Given the description of an element on the screen output the (x, y) to click on. 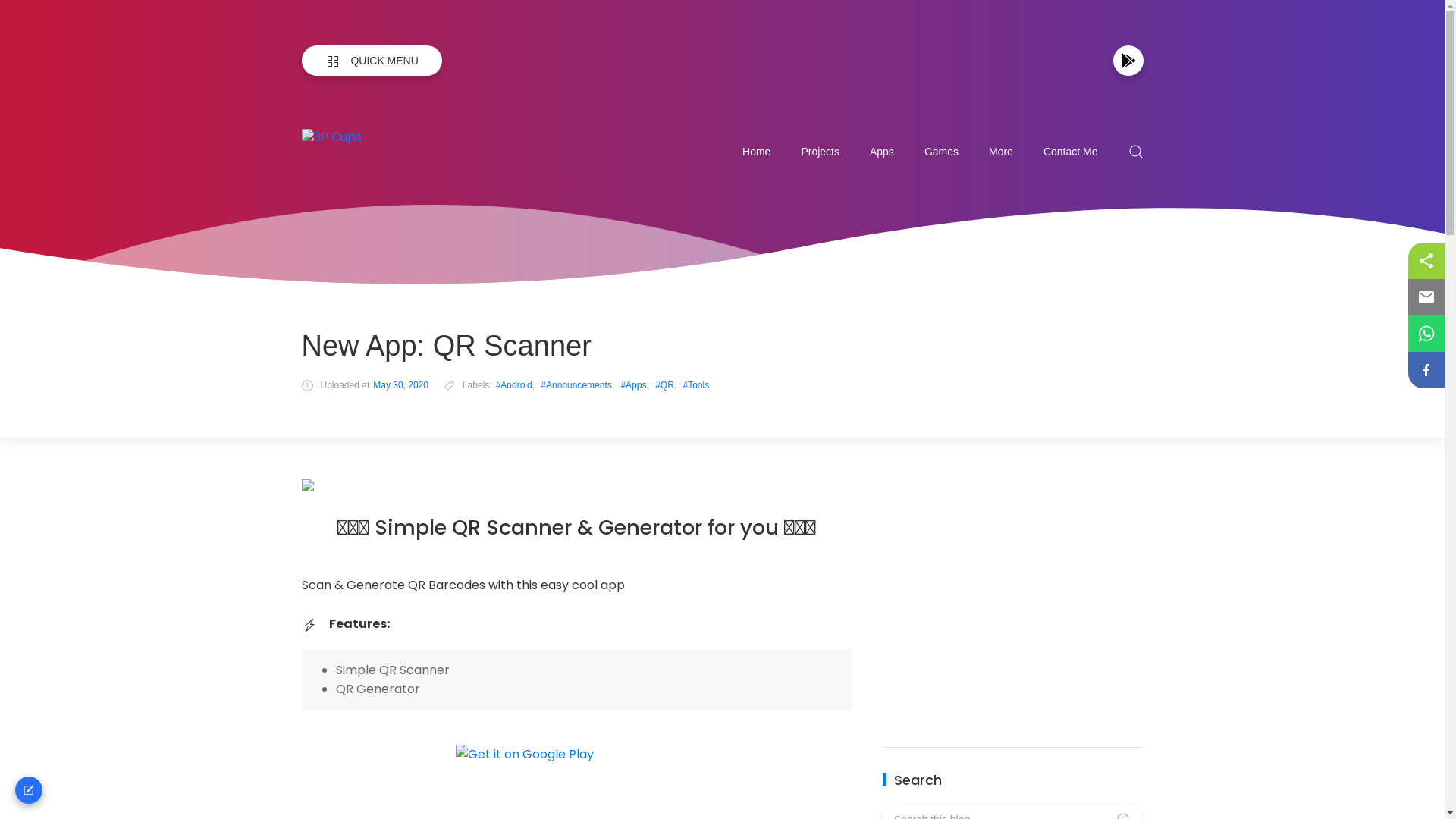
#Announcements Element type: text (575, 384)
#Apps Element type: text (633, 384)
#Android Element type: text (513, 384)
Projects Element type: text (819, 151)
QUICK MENU Element type: text (371, 60)
Contact Me Element type: text (1070, 151)
May 30, 2020 Element type: text (400, 384)
#QR Element type: text (664, 384)
Apps Element type: text (881, 151)
#Tools Element type: text (695, 384)
Home Element type: text (756, 151)
Advertisement Element type: hover (1012, 596)
Games Element type: text (941, 151)
More Element type: text (1000, 151)
